Given the description of an element on the screen output the (x, y) to click on. 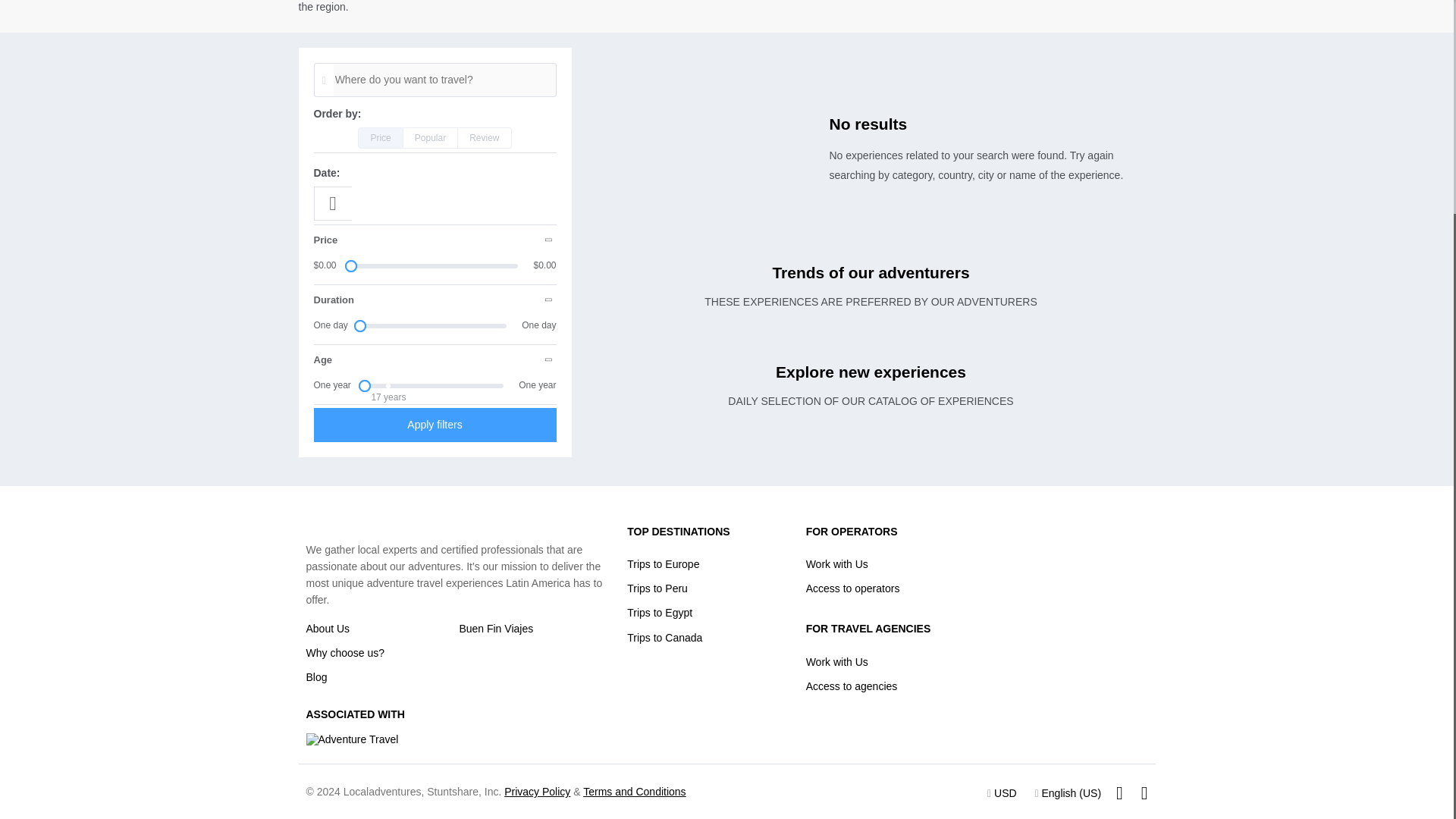
LocalAdventures (347, 524)
Adventure Travel (351, 739)
